Given the description of an element on the screen output the (x, y) to click on. 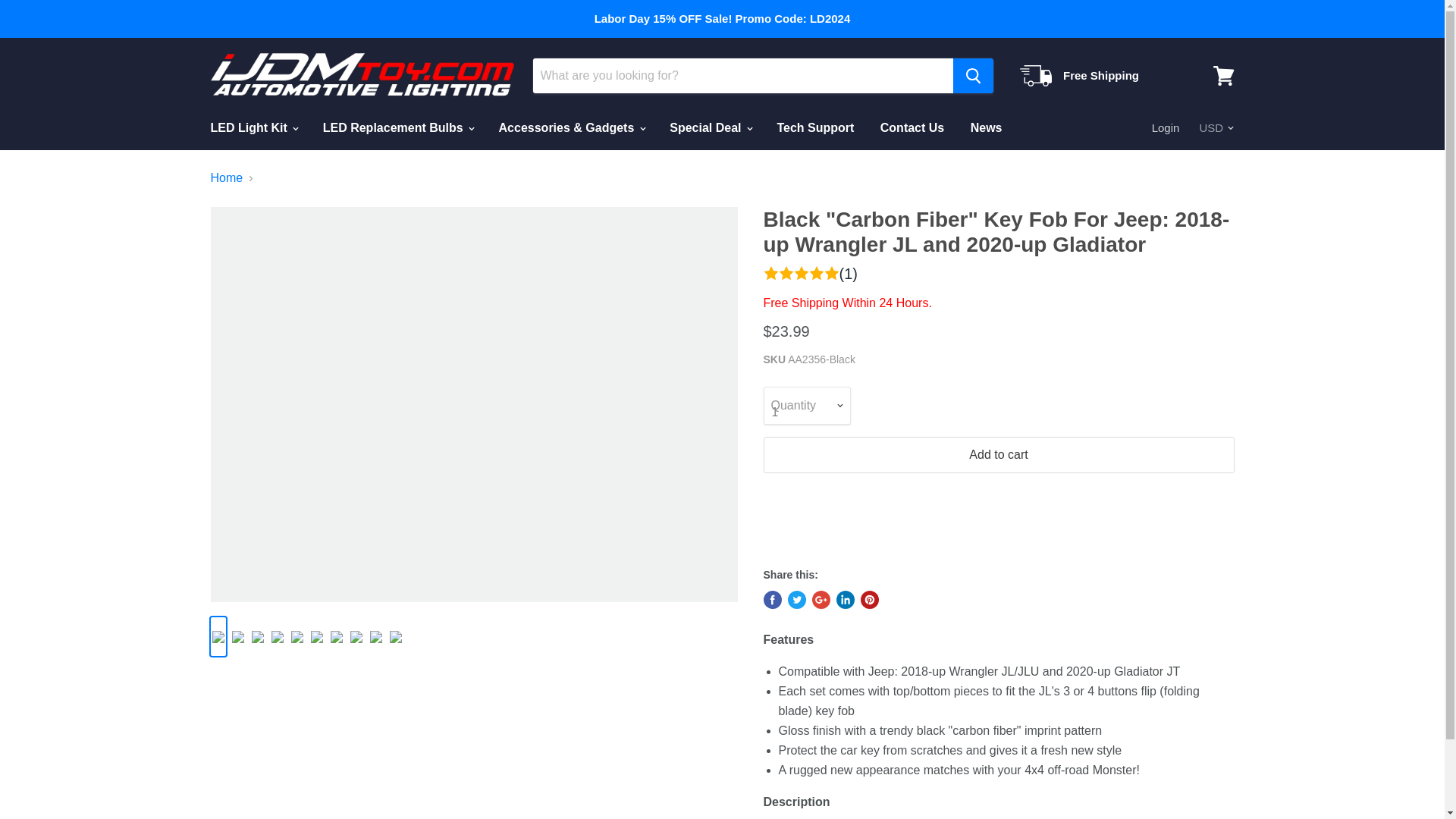
LED Light Kit (252, 128)
View cart (1223, 75)
LED Replacement Bulbs (397, 128)
